Given the description of an element on the screen output the (x, y) to click on. 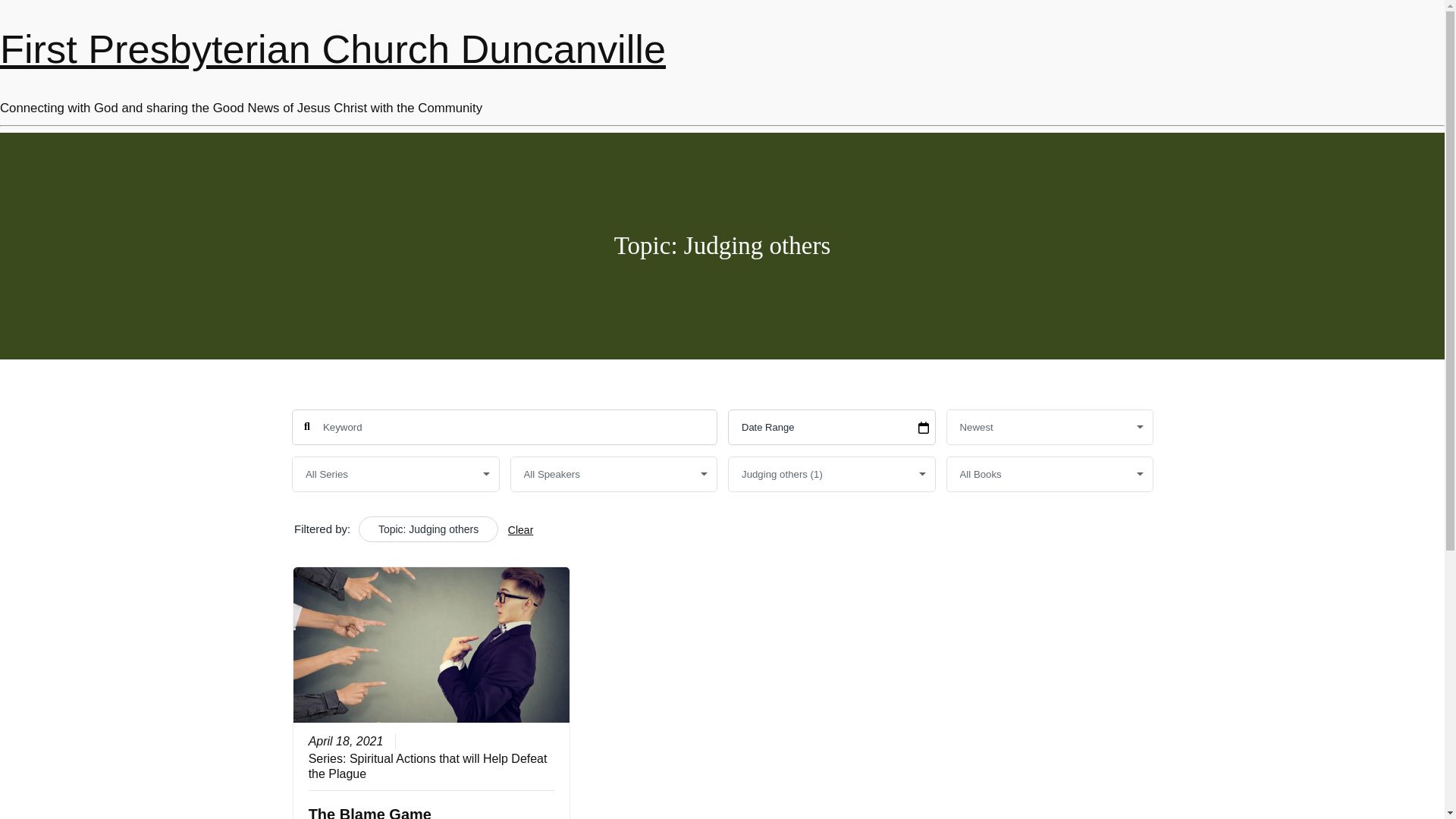
The Blame Game (368, 812)
Spiritual Actions that will Help Defeat the Plague (427, 765)
The Blame Game (368, 812)
Clear (519, 530)
First Presbyterian Church Duncanville (332, 49)
